Given the description of an element on the screen output the (x, y) to click on. 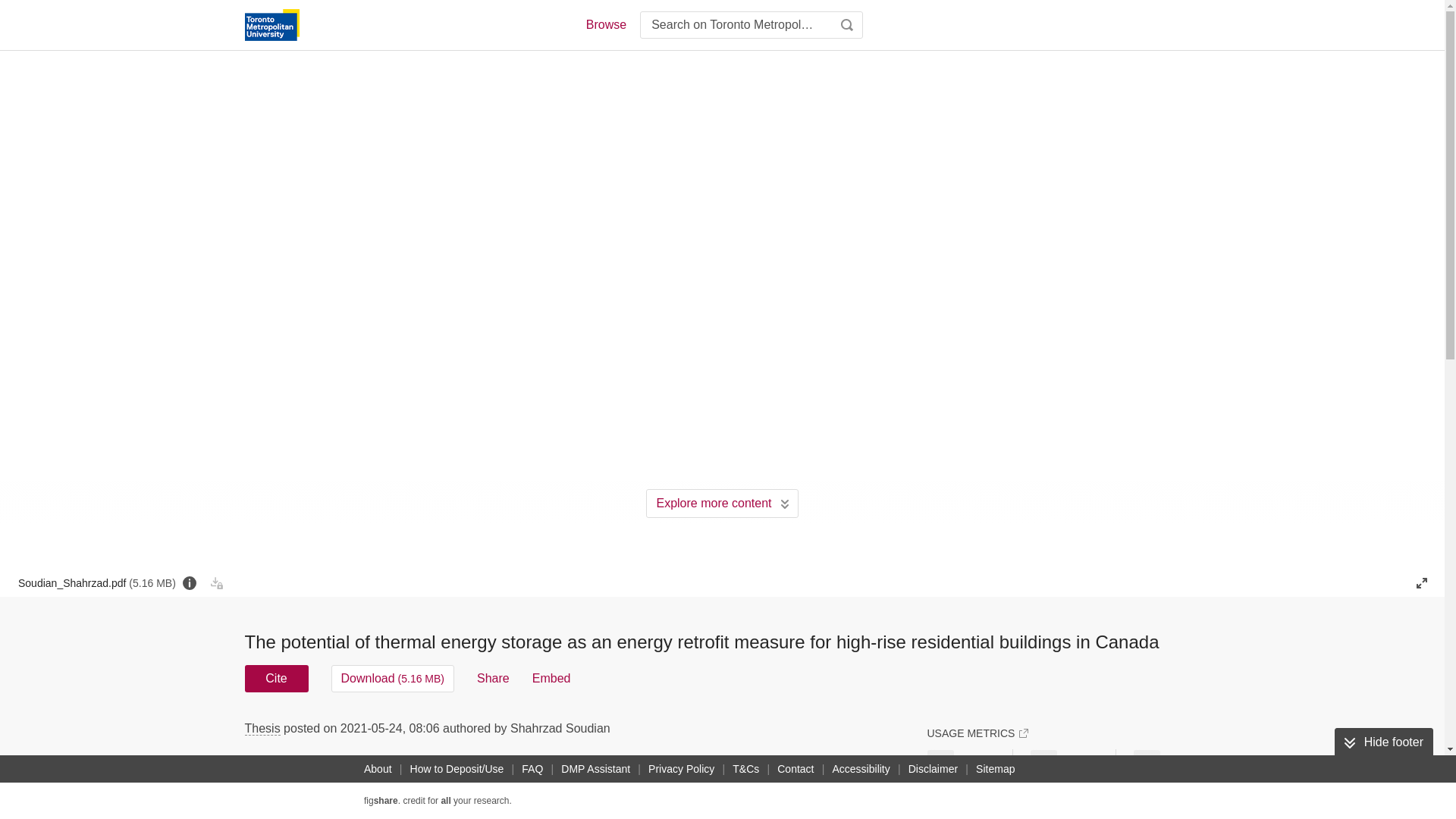
Hide footer (1383, 742)
About (377, 769)
Embed (551, 678)
Cite (275, 678)
Contact (795, 769)
Share (493, 678)
Explore more content (721, 502)
USAGE METRICS (976, 732)
Browse (605, 24)
DMP Assistant (595, 769)
FAQ (531, 769)
Privacy Policy (681, 769)
